Given the description of an element on the screen output the (x, y) to click on. 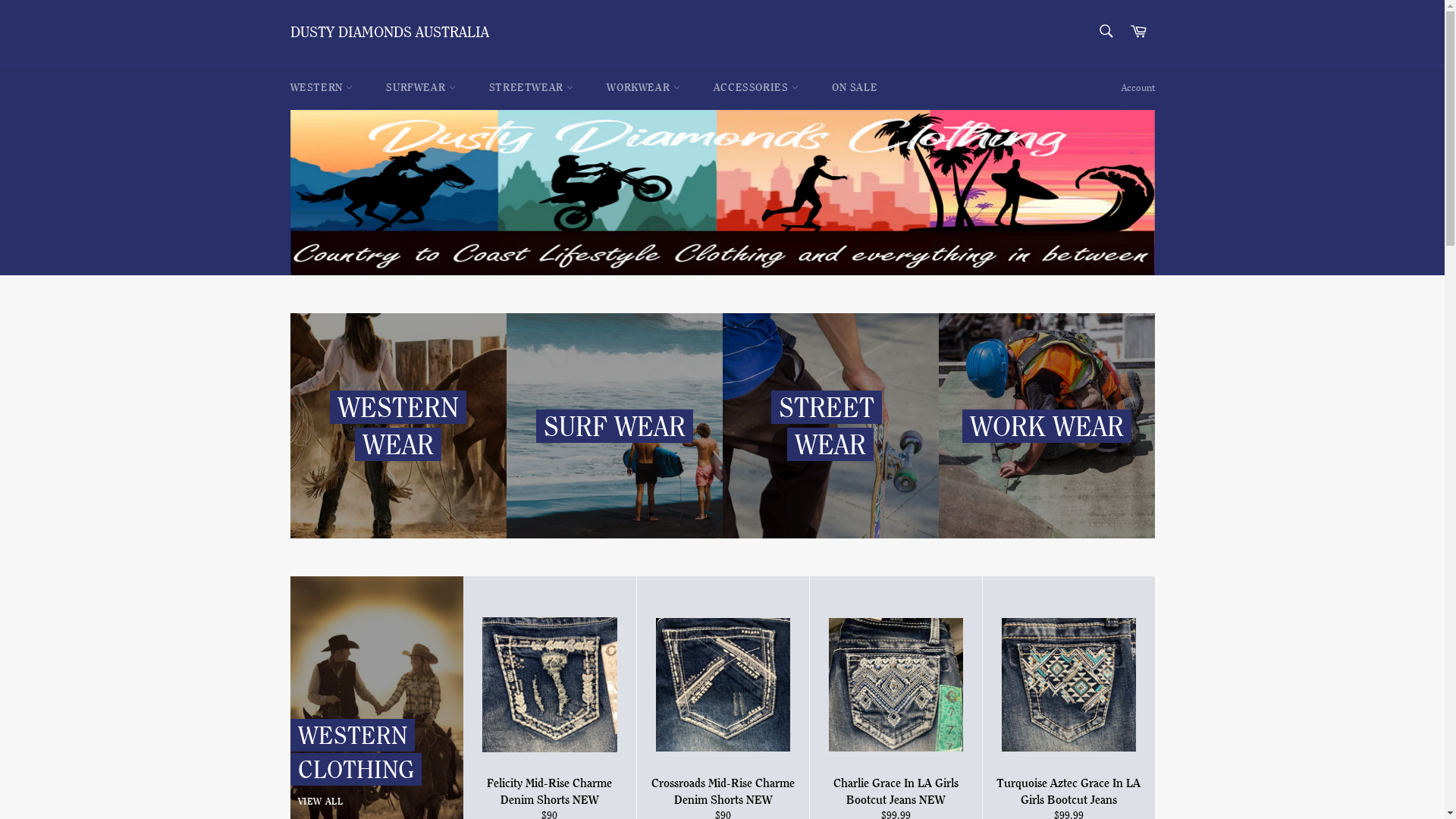
WORK WEAR Element type: text (1046, 425)
SURFWEAR Element type: text (420, 87)
Account Element type: text (1137, 87)
STREET WEAR Element type: text (829, 425)
ACCESSORIES Element type: text (755, 87)
WORKWEAR Element type: text (642, 87)
WESTERN Element type: text (320, 87)
DUSTY DIAMONDS AUSTRALIA Element type: text (388, 32)
Search Element type: text (1105, 31)
STREETWEAR Element type: text (531, 87)
ON SALE Element type: text (854, 87)
Cart Element type: text (1138, 32)
WESTERN WEAR Element type: text (397, 425)
SURF WEAR Element type: text (614, 425)
